Given the description of an element on the screen output the (x, y) to click on. 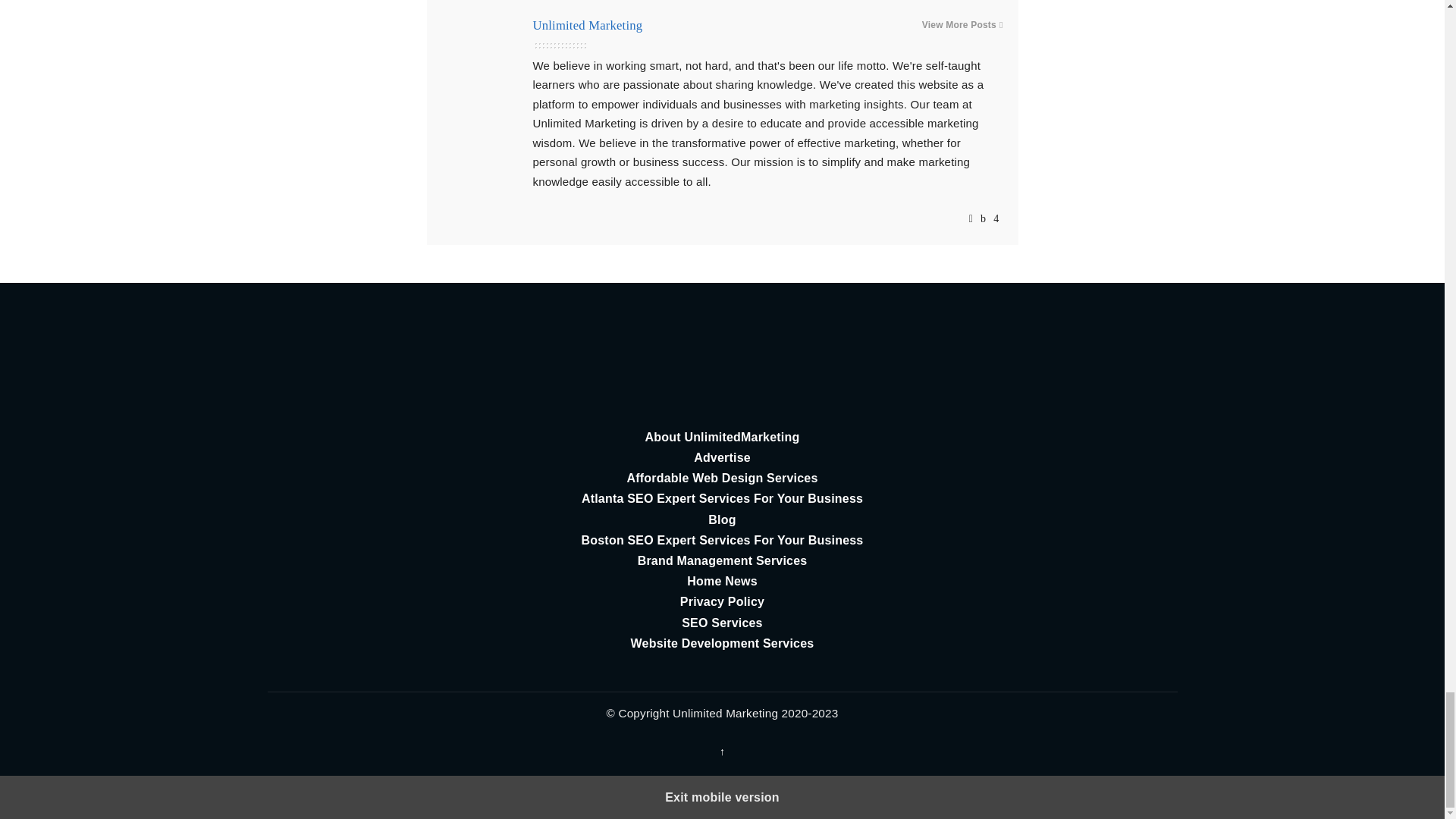
Home News (722, 580)
Website Development Services (722, 643)
Boston SEO Expert Services For Your Business (722, 539)
Privacy Policy (722, 601)
Brand Management Services (722, 560)
Blog (722, 519)
Affordable Web Design Services (722, 477)
Advertise (722, 457)
About UnlimitedMarketing (722, 436)
SEO Services (722, 622)
